Given the description of an element on the screen output the (x, y) to click on. 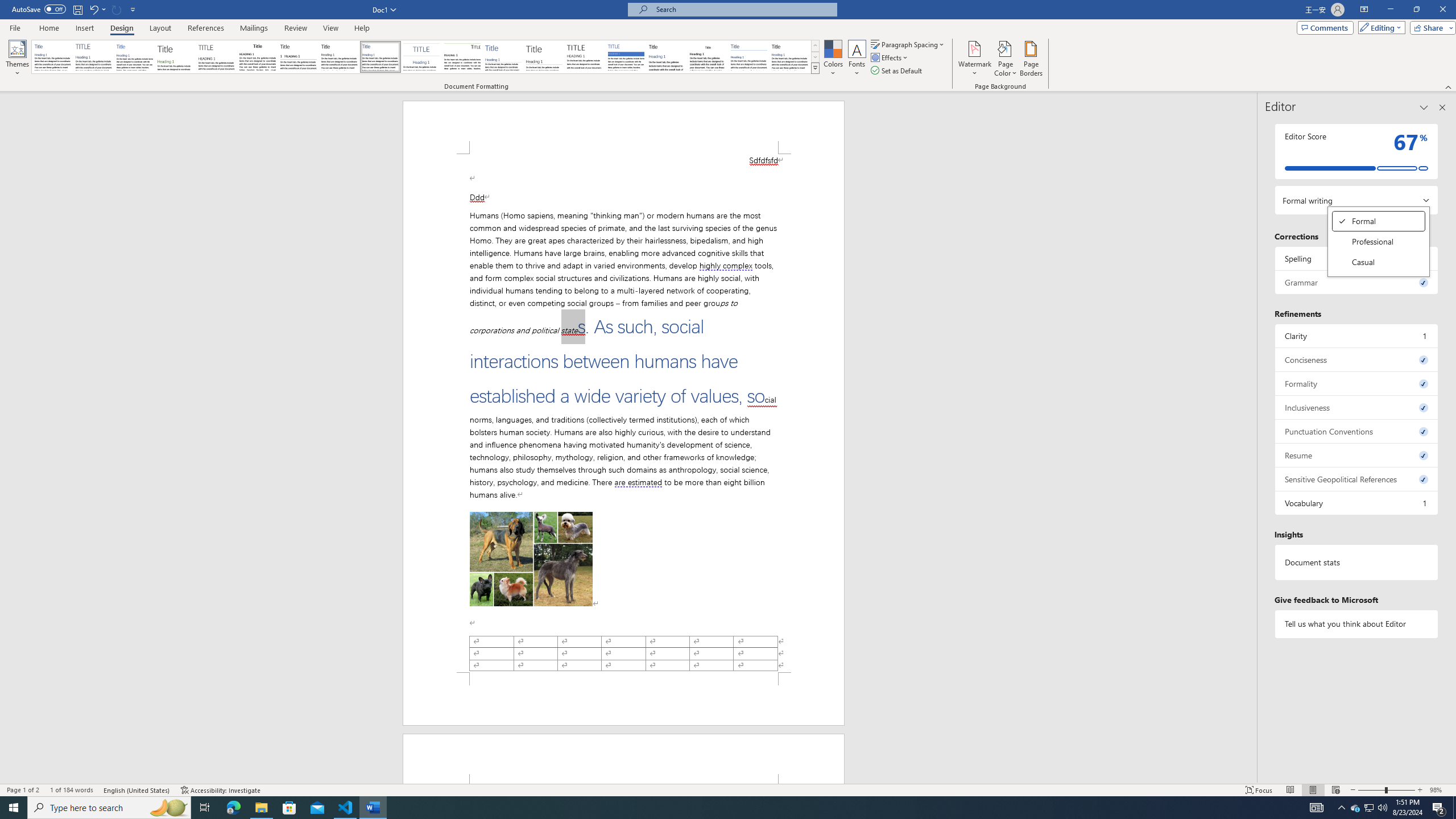
Minimalist (584, 56)
AutomationID: QuickStylesSets (425, 56)
Lines (Distinctive) (462, 56)
Black & White (Word 2013) (338, 56)
Themes (17, 58)
Basic (Elegant) (93, 56)
Casual (379, 56)
Page Borders... (1031, 58)
Running applications (717, 807)
